Given the description of an element on the screen output the (x, y) to click on. 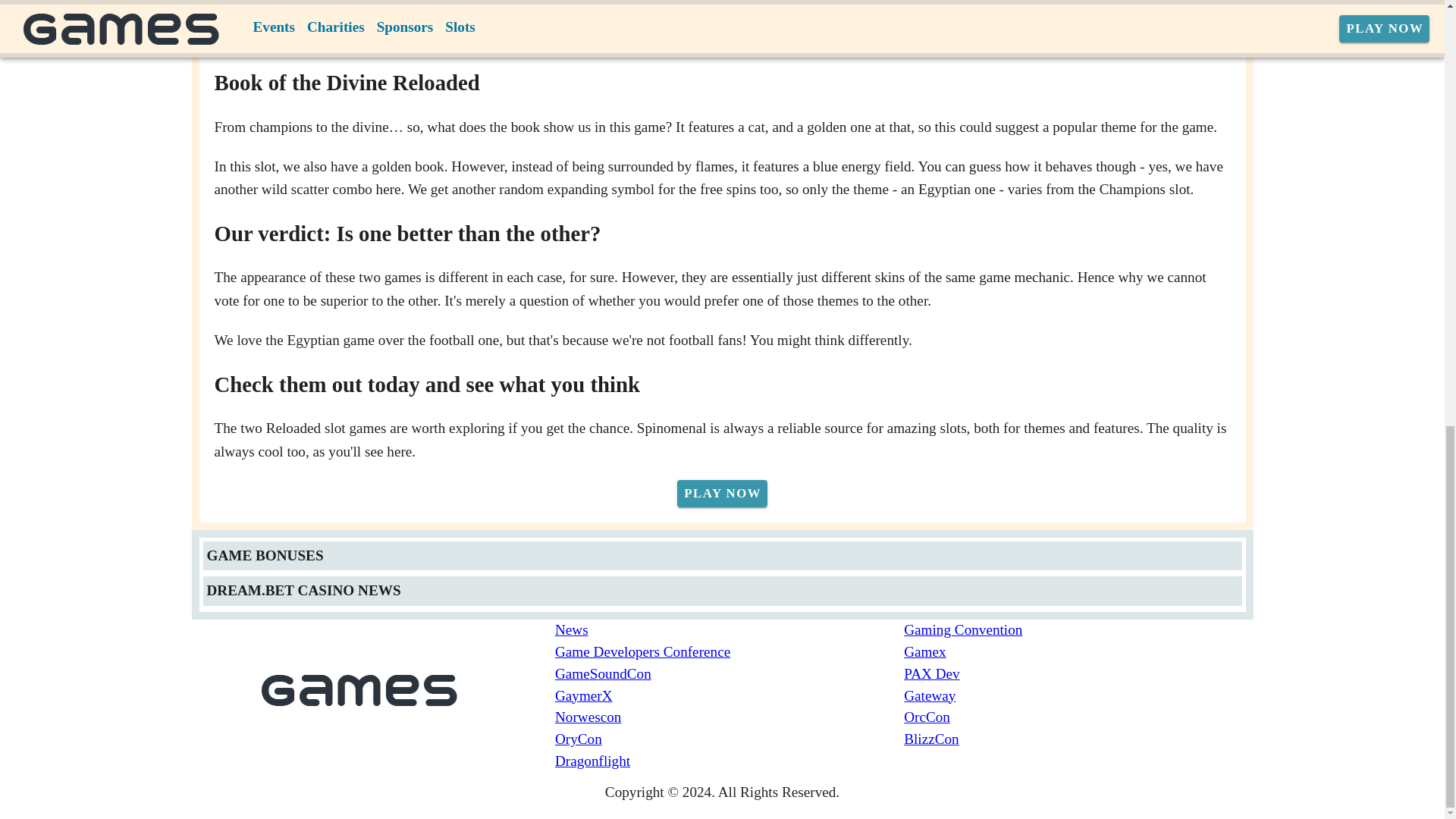
Gaming Convention (1078, 630)
Game Developers Conference (729, 652)
Gamex (1078, 652)
Dragonflight (729, 762)
BlizzCon (1078, 739)
Norwescon (729, 717)
OryCon (729, 739)
PLAY NOW (722, 492)
Gateway (1078, 696)
PAX Dev (1078, 674)
GaymerX (729, 696)
GameSoundCon (729, 674)
OrcCon (1078, 717)
News (729, 630)
